Given the description of an element on the screen output the (x, y) to click on. 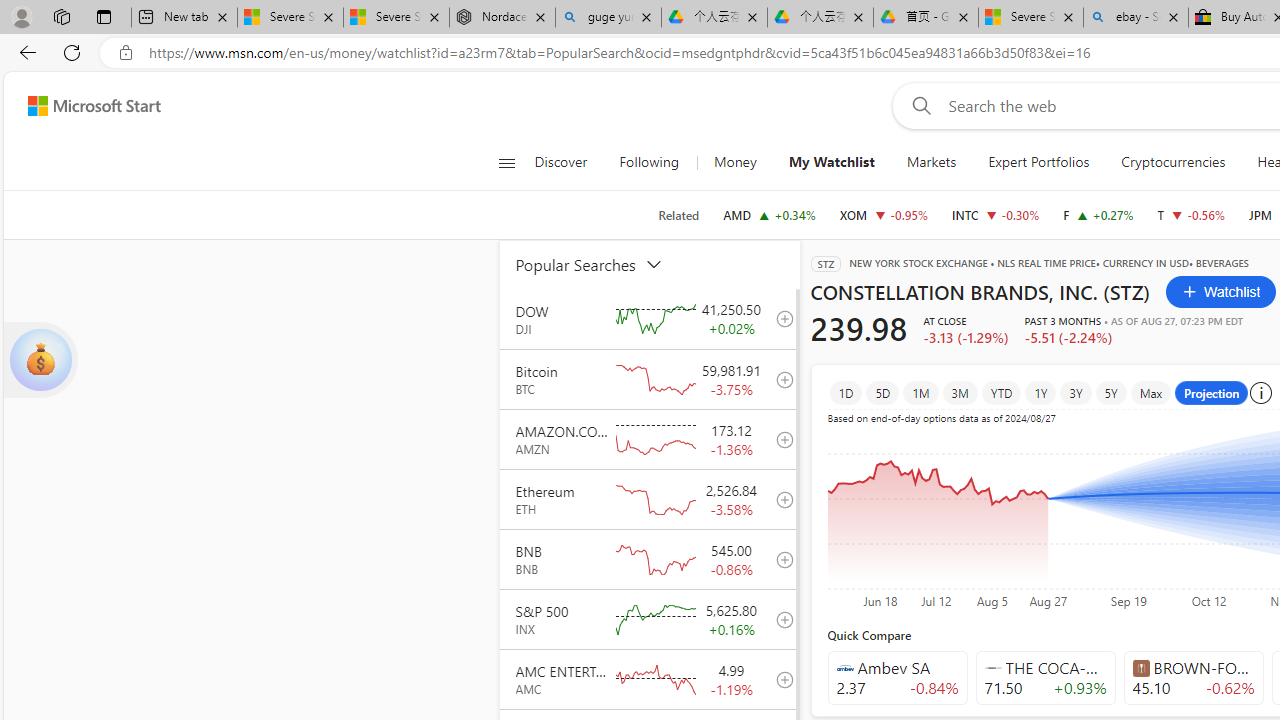
Cryptocurrencies (1173, 162)
5Y (1110, 392)
5D (882, 392)
XOM EXXON MOBIL CORPORATION decrease 117.68 -1.13 -0.95% (883, 214)
My Watchlist (830, 162)
Expert Portfolios (1039, 162)
YTD (1000, 392)
INTC INTEL CORPORATION decrease 20.07 -0.06 -0.30% (995, 214)
Popular Searches (601, 264)
